Given the description of an element on the screen output the (x, y) to click on. 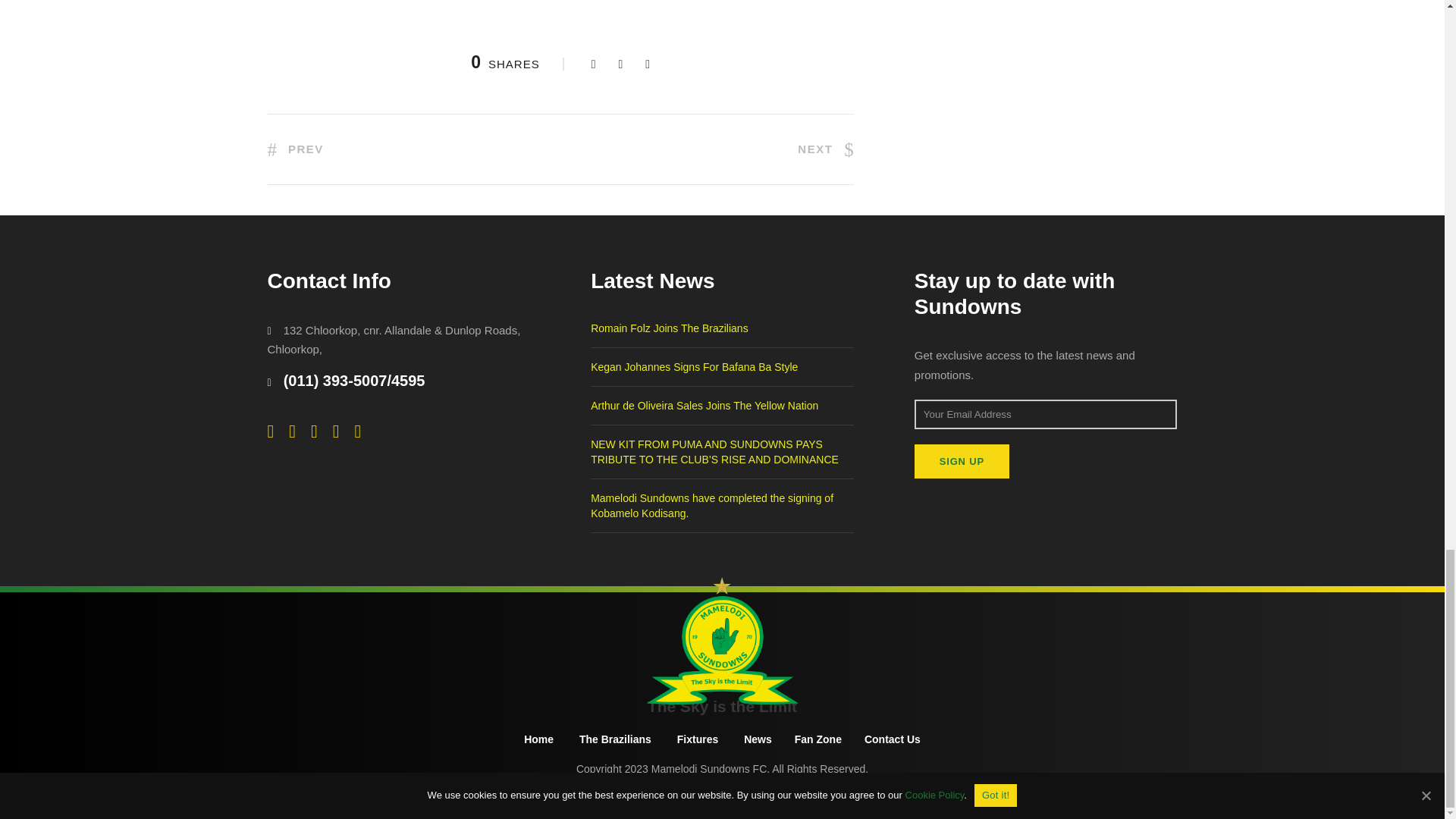
Sign up (961, 461)
